Given the description of an element on the screen output the (x, y) to click on. 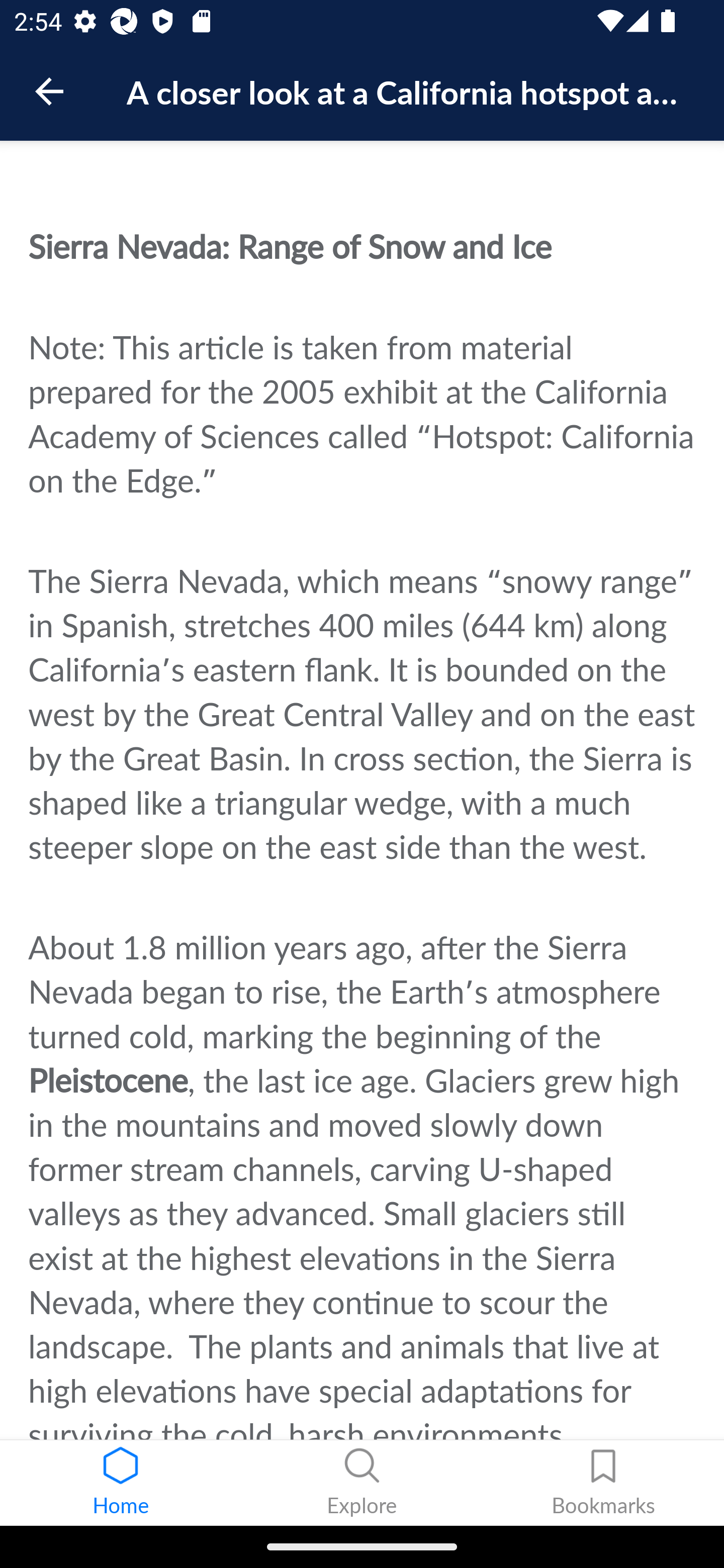
Navigate up (49, 91)
Home (120, 1482)
Explore (361, 1482)
Bookmarks (603, 1482)
